Given the description of an element on the screen output the (x, y) to click on. 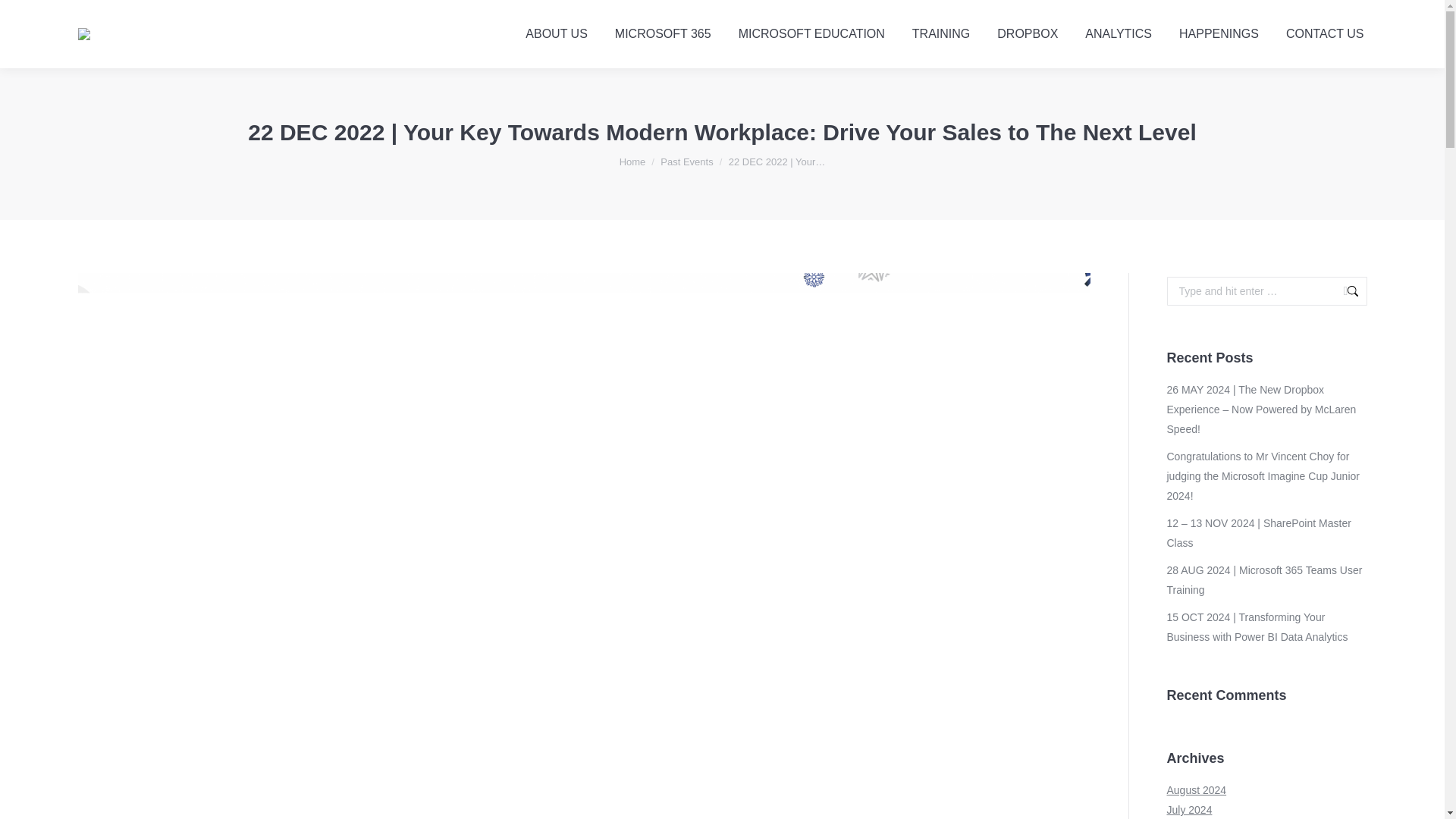
Past Events (687, 161)
Go! (1344, 290)
DROPBOX (1027, 33)
Home (633, 161)
ABOUT US (556, 33)
CONTACT US (1324, 33)
MICROSOFT EDUCATION (811, 33)
TRAINING (940, 33)
HAPPENINGS (1219, 33)
MICROSOFT 365 (662, 33)
